Given the description of an element on the screen output the (x, y) to click on. 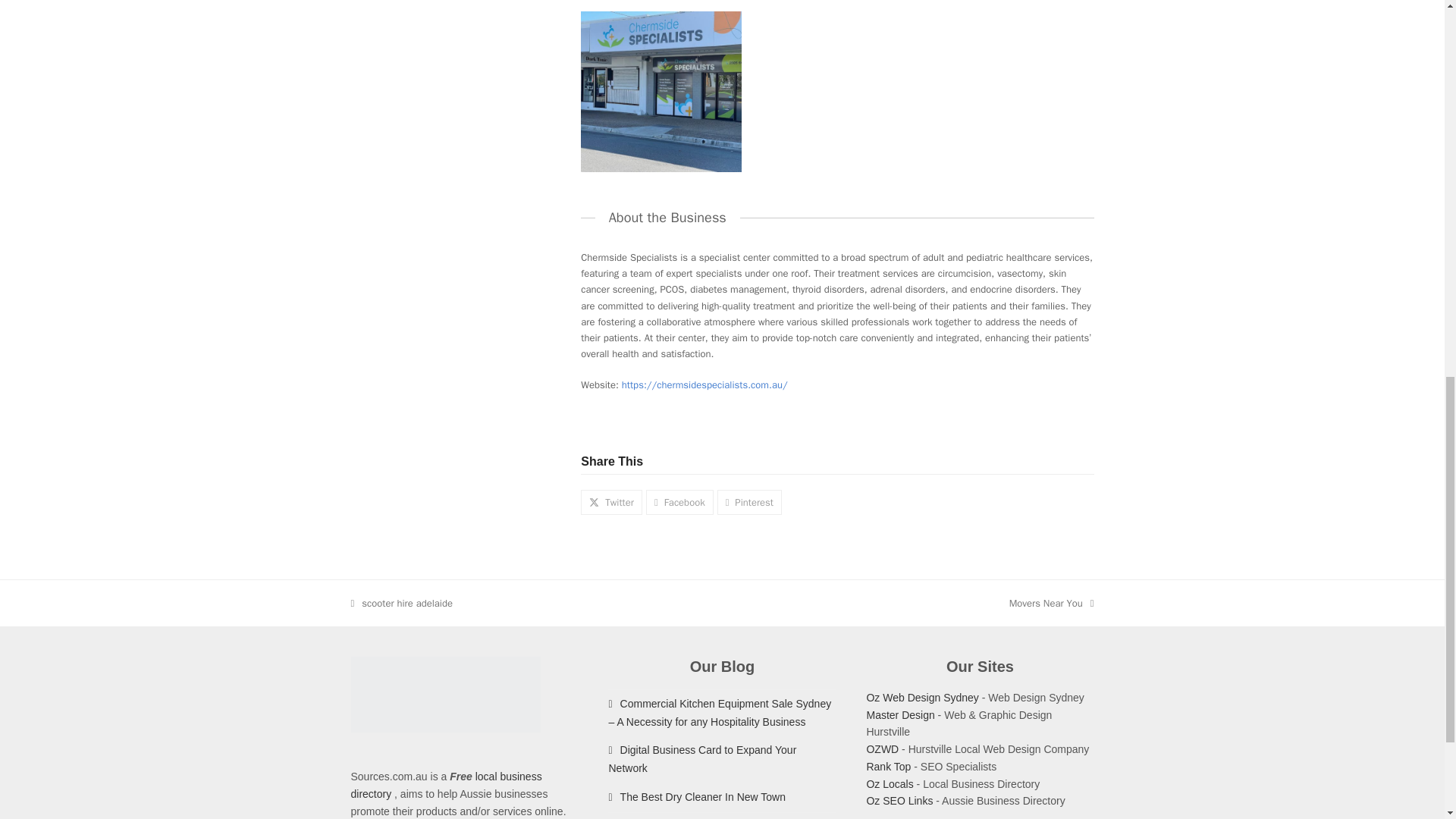
Facebook (679, 502)
Rank Top (888, 766)
Oz Web Design Sydney (922, 697)
OZWD (882, 748)
web design sydney (922, 697)
local business directory (445, 785)
Pinterest (749, 502)
web designer hurstville (882, 748)
seo hurstville (888, 766)
